Given the description of an element on the screen output the (x, y) to click on. 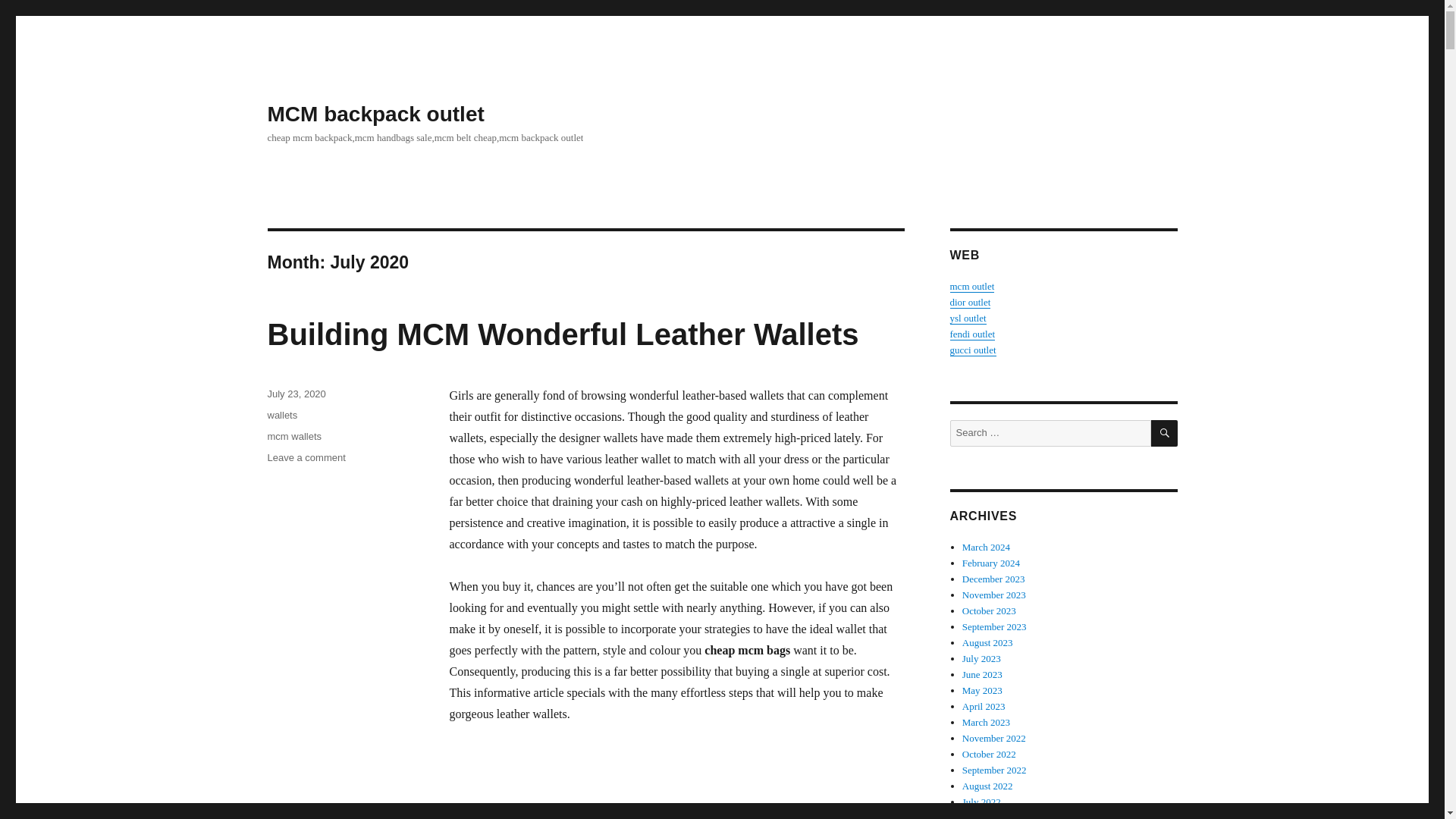
wallets (305, 457)
MCM backpack outlet (281, 414)
mcm wallets (374, 114)
Building MCM Wonderful Leather Wallets (293, 436)
July 23, 2020 (562, 334)
